Given the description of an element on the screen output the (x, y) to click on. 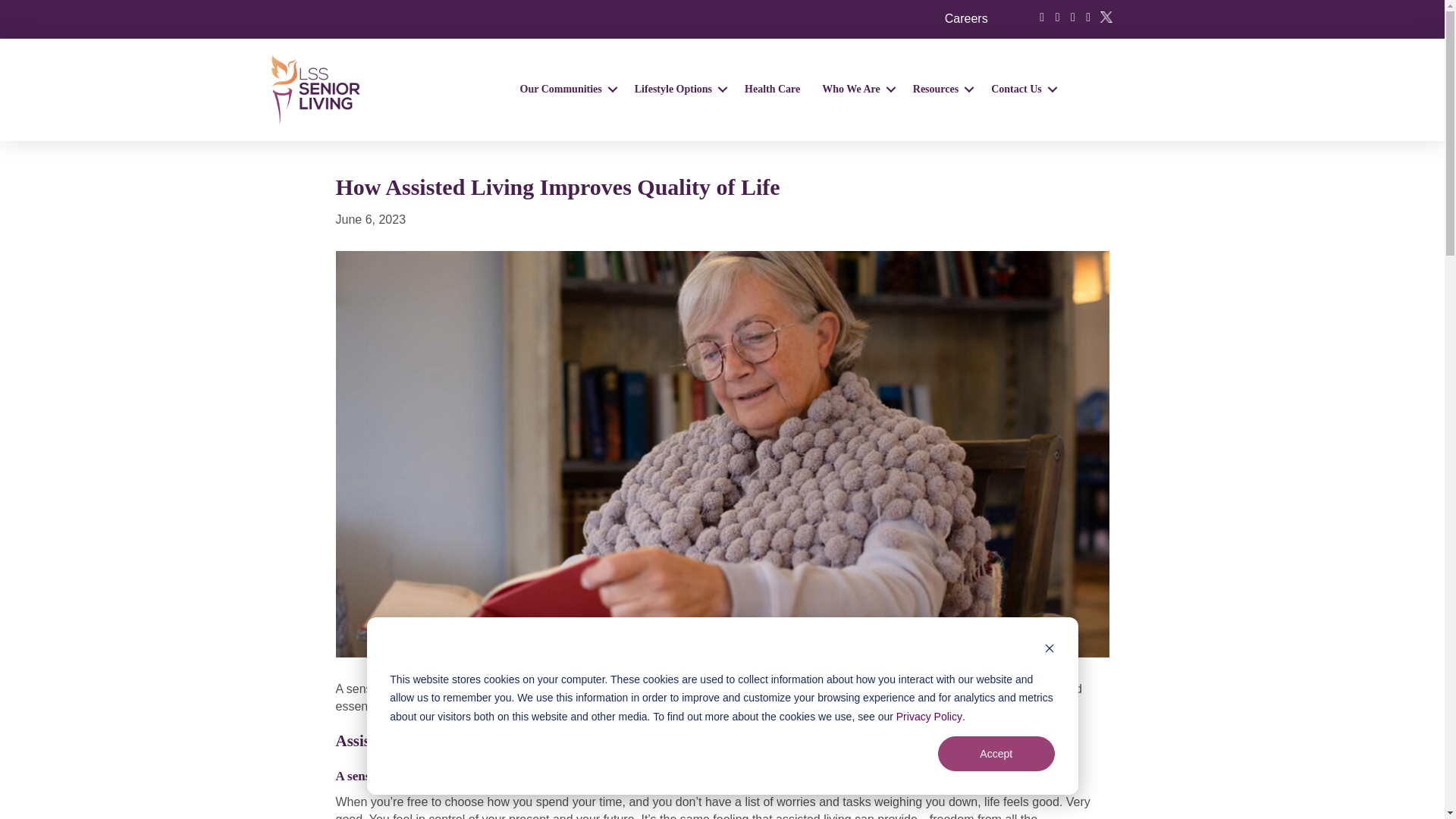
Health Care (771, 89)
Our Communities (566, 89)
Resources (940, 89)
Contact Us (1020, 89)
Careers (966, 18)
Lifestyle Options (678, 89)
Who We Are (855, 89)
twitter-x (1106, 16)
